Given the description of an element on the screen output the (x, y) to click on. 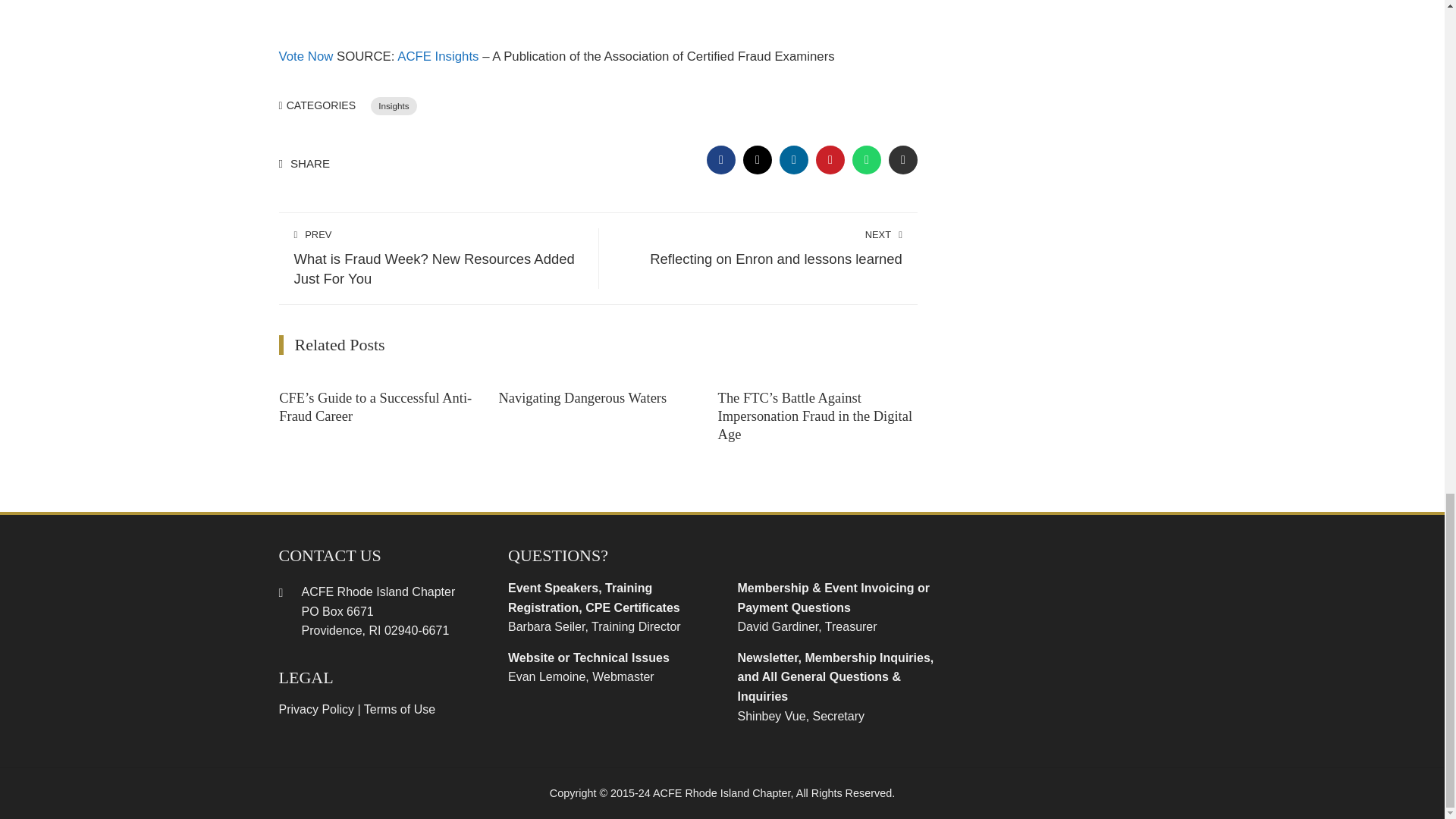
Navigating Dangerous Waters (581, 397)
